Given the description of an element on the screen output the (x, y) to click on. 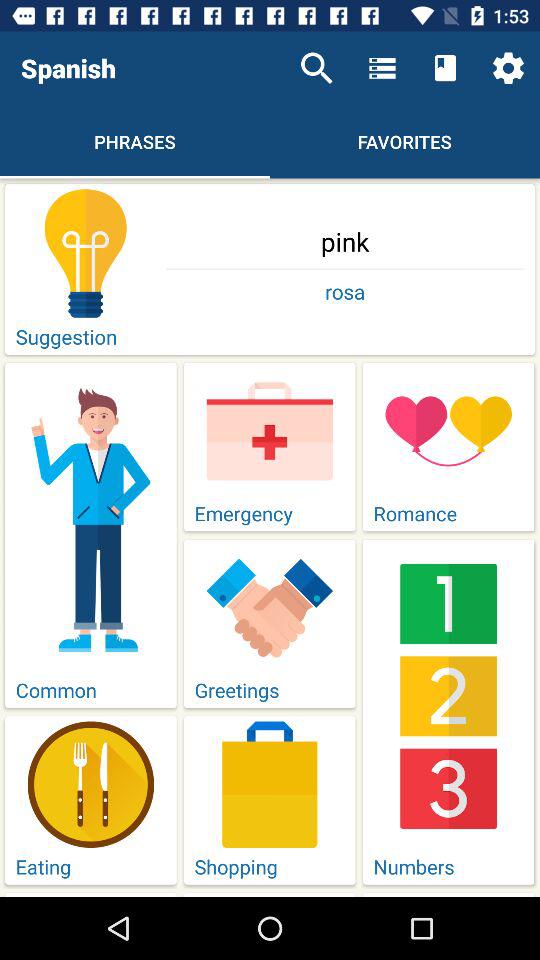
open item next to the spanish icon (316, 67)
